Given the description of an element on the screen output the (x, y) to click on. 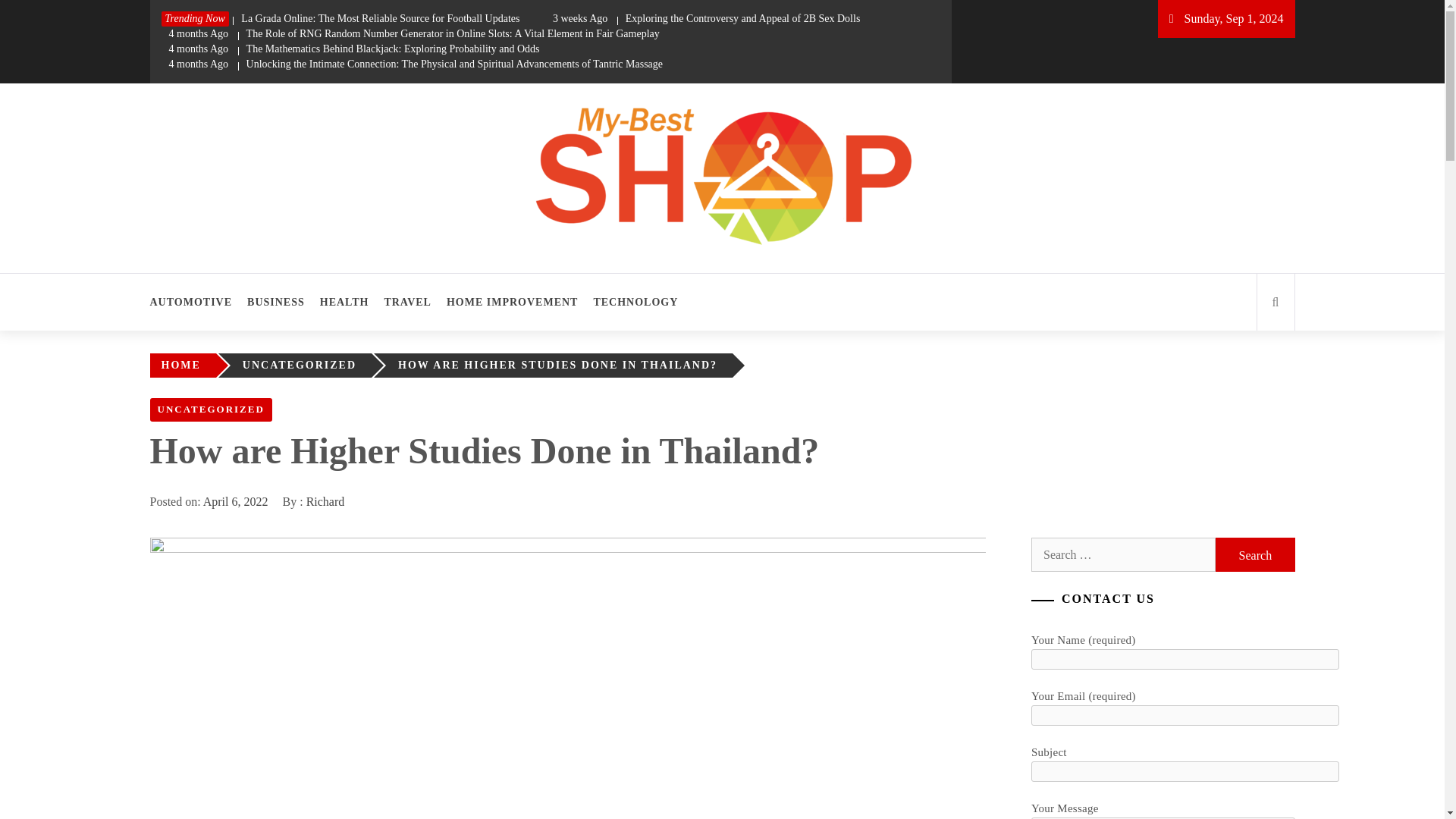
UNCATEGORIZED (303, 365)
Richard (325, 501)
Search (1254, 554)
HEALTH (345, 301)
HOME (184, 365)
AUTOMOTIVE (194, 301)
April 6, 2022 (235, 501)
UNCATEGORIZED (210, 409)
HOME IMPROVEMENT (512, 301)
